Given the description of an element on the screen output the (x, y) to click on. 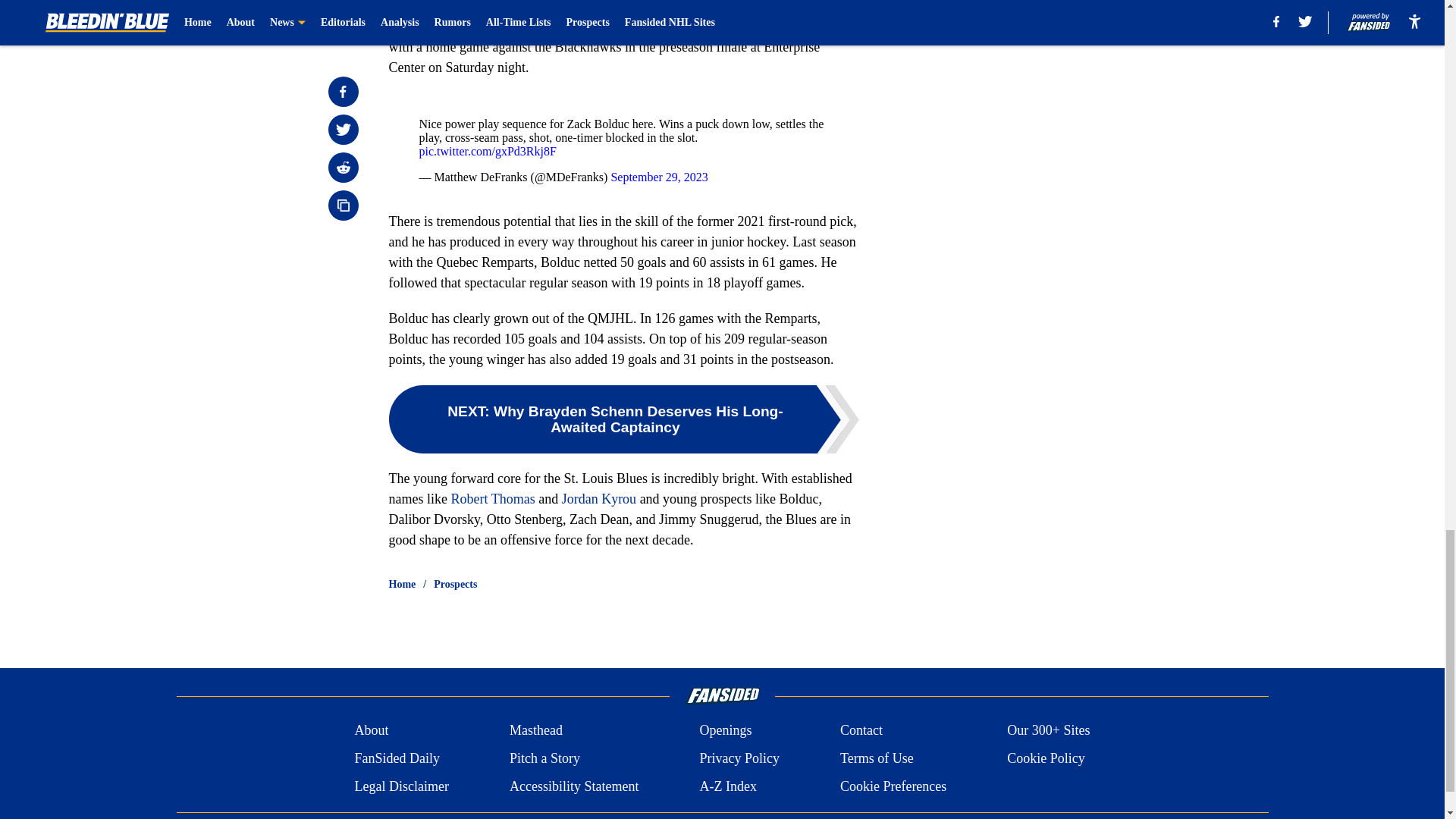
Jordan Kyrou (599, 498)
NEXT: Why Brayden Schenn Deserves His Long-Awaited Captaincy (623, 418)
September 29, 2023 (658, 176)
Prospects (455, 584)
About (370, 730)
Masthead (535, 730)
Home (401, 584)
Robert Thomas (491, 498)
